Given the description of an element on the screen output the (x, y) to click on. 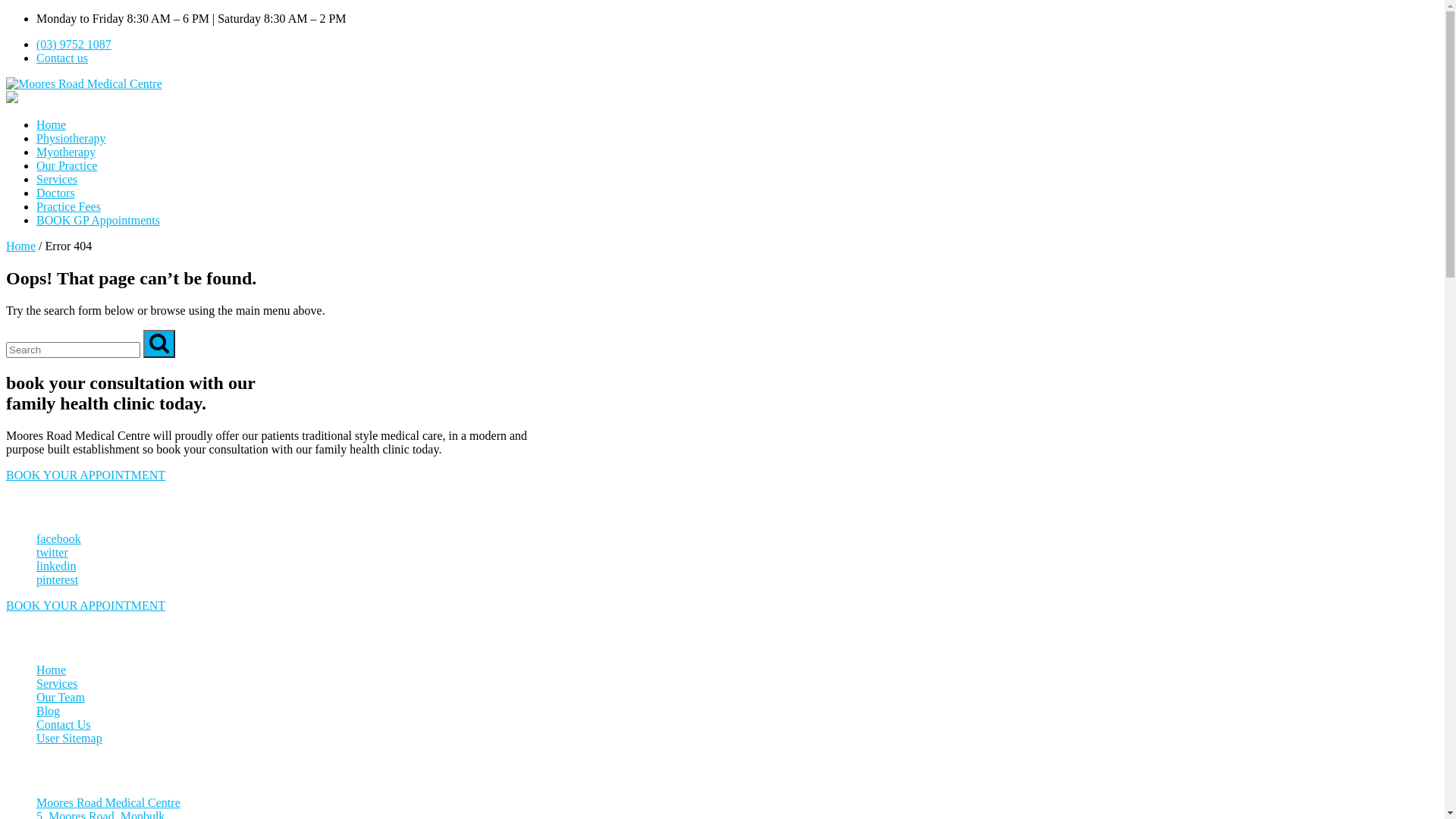
Home Element type: text (20, 245)
Practice Fees Element type: text (68, 206)
BOOK YOUR APPOINTMENT Element type: text (85, 474)
Services Element type: text (56, 178)
User Sitemap Element type: text (69, 737)
Our Team Element type: text (60, 696)
facebook Element type: text (58, 538)
Skip to content Element type: text (5, 11)
(03) 9752 1087 Element type: text (73, 43)
twitter Element type: text (52, 552)
Blog Element type: text (47, 710)
linkedin Element type: text (55, 565)
Services Element type: text (56, 683)
Myotherapy Element type: text (65, 151)
Home Element type: text (50, 669)
Physiotherapy Element type: text (71, 137)
BOOK YOUR APPOINTMENT Element type: text (85, 605)
Contact Us Element type: text (63, 724)
Home Element type: text (50, 124)
Contact us Element type: text (61, 57)
Doctors Element type: text (55, 192)
BOOK GP Appointments Element type: text (98, 219)
pinterest Element type: text (57, 579)
Our Practice Element type: text (66, 165)
